Given the description of an element on the screen output the (x, y) to click on. 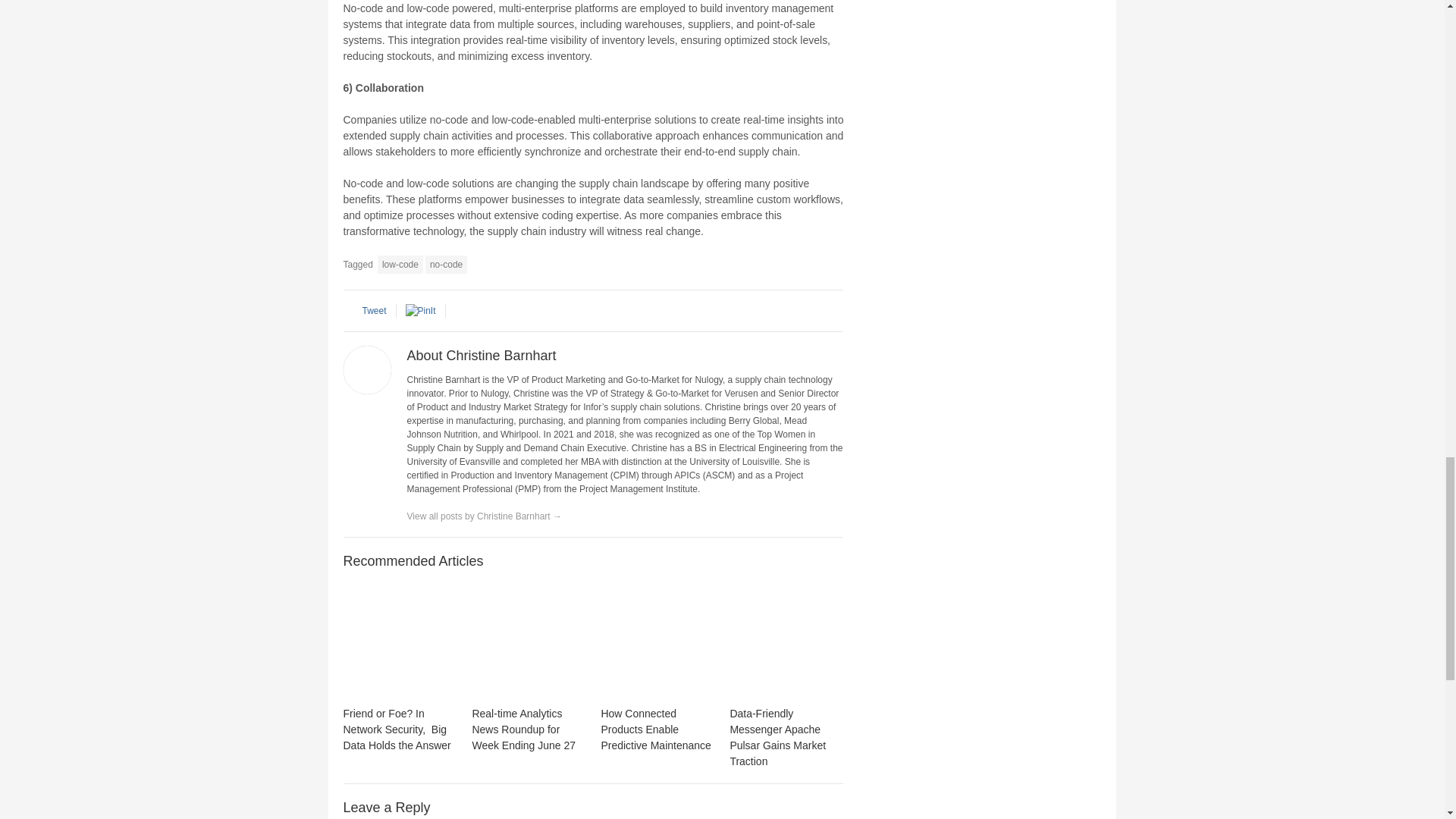
Real-time Analytics News Roundup for Week Ending June 27 (528, 642)
How Connected Products Enable Predictive Maintenance (654, 729)
How Connected Products Enable Predictive Maintenance (656, 642)
Real-time Analytics News Roundup for Week Ending June 27 (523, 729)
